Given the description of an element on the screen output the (x, y) to click on. 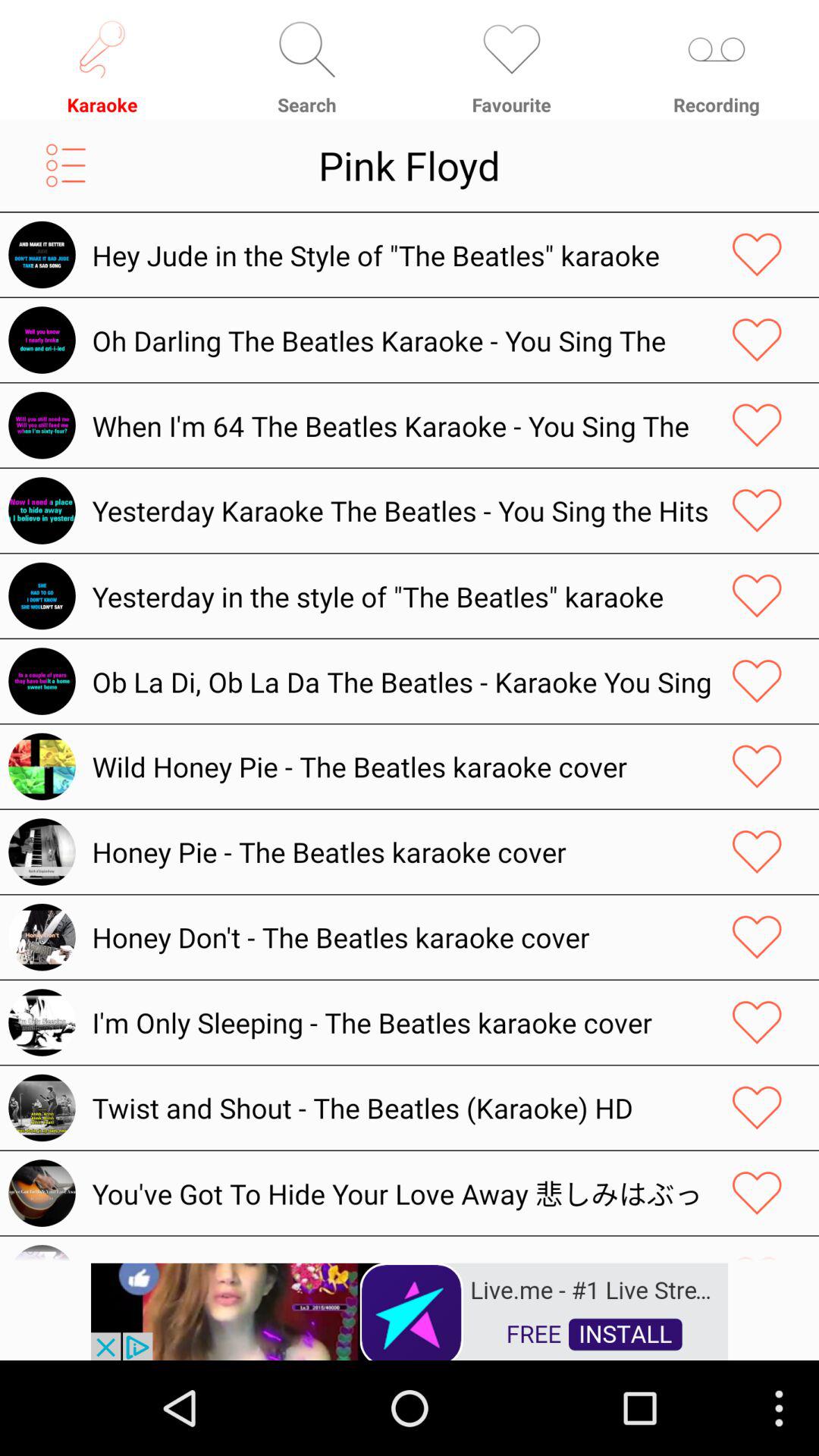
click on the favorites icon of fifth song (757, 595)
click on the favorites icon of eleventh song (757, 1106)
select the sixth favorite icon below thepink floyd (757, 681)
click on the third image (41, 425)
select  the icon which is above the favorite (512, 49)
